Given the description of an element on the screen output the (x, y) to click on. 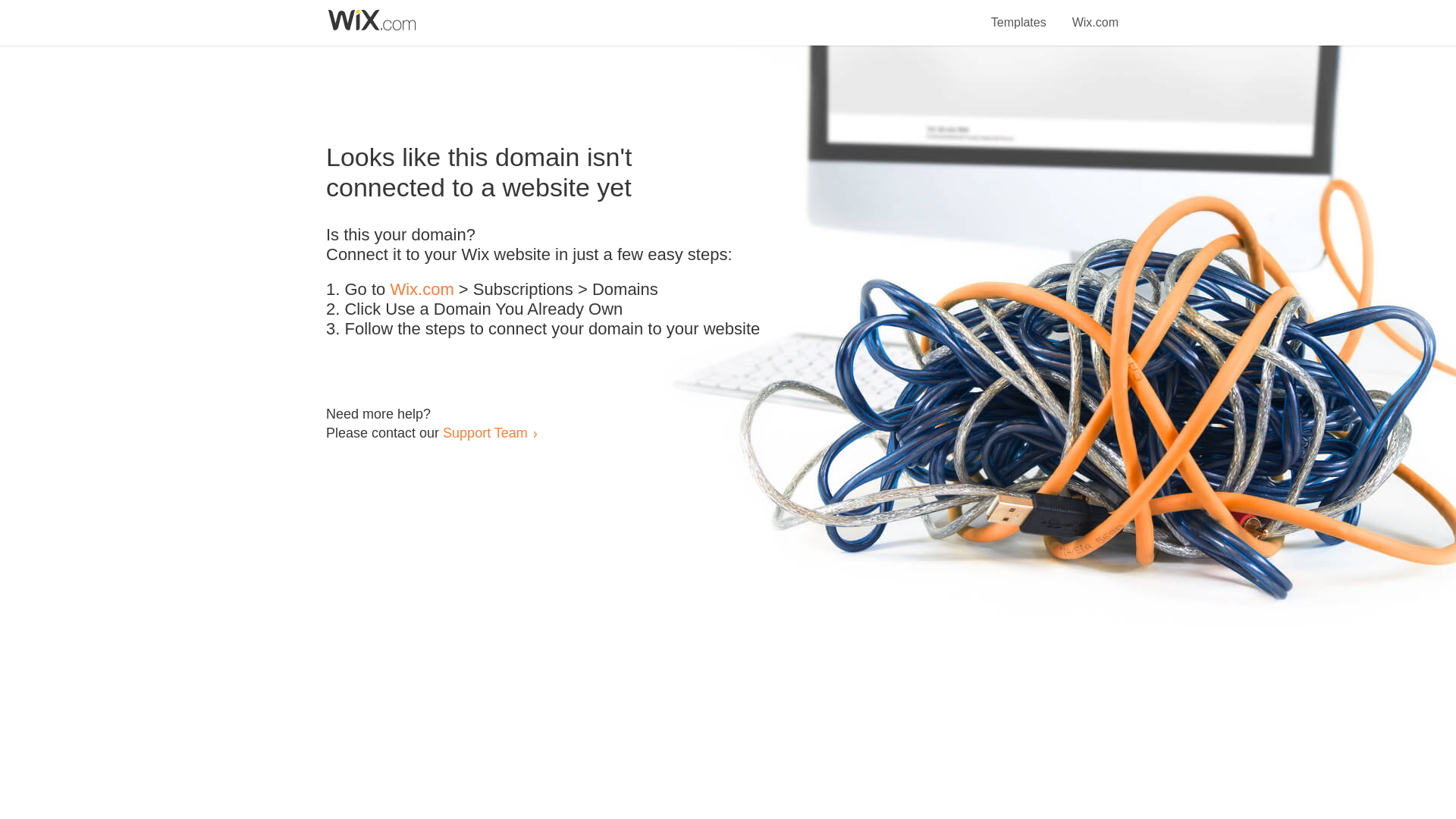
Wix.com (421, 289)
Templates (1018, 14)
Support Team (484, 432)
Wix.com (1095, 14)
